Given the description of an element on the screen output the (x, y) to click on. 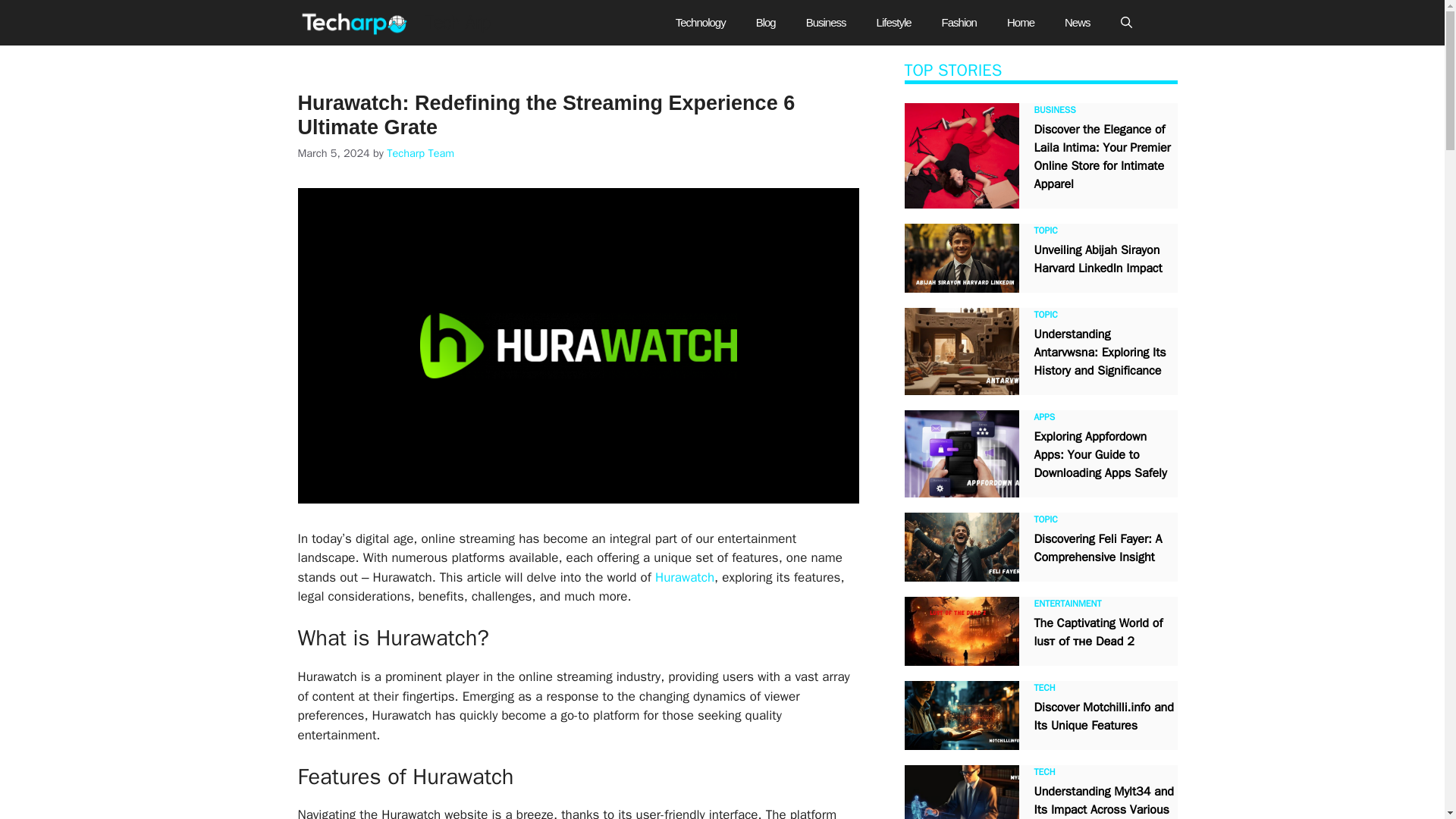
Fashion (958, 22)
Lifestyle (893, 22)
Hurawatch (684, 577)
Home (1020, 22)
View all posts by Techarp Team (420, 152)
Technology (701, 22)
Tech Arp (457, 22)
Blog (765, 22)
Techarp Team (420, 152)
Business (825, 22)
News (1077, 22)
Tech Arp (356, 22)
